Given the description of an element on the screen output the (x, y) to click on. 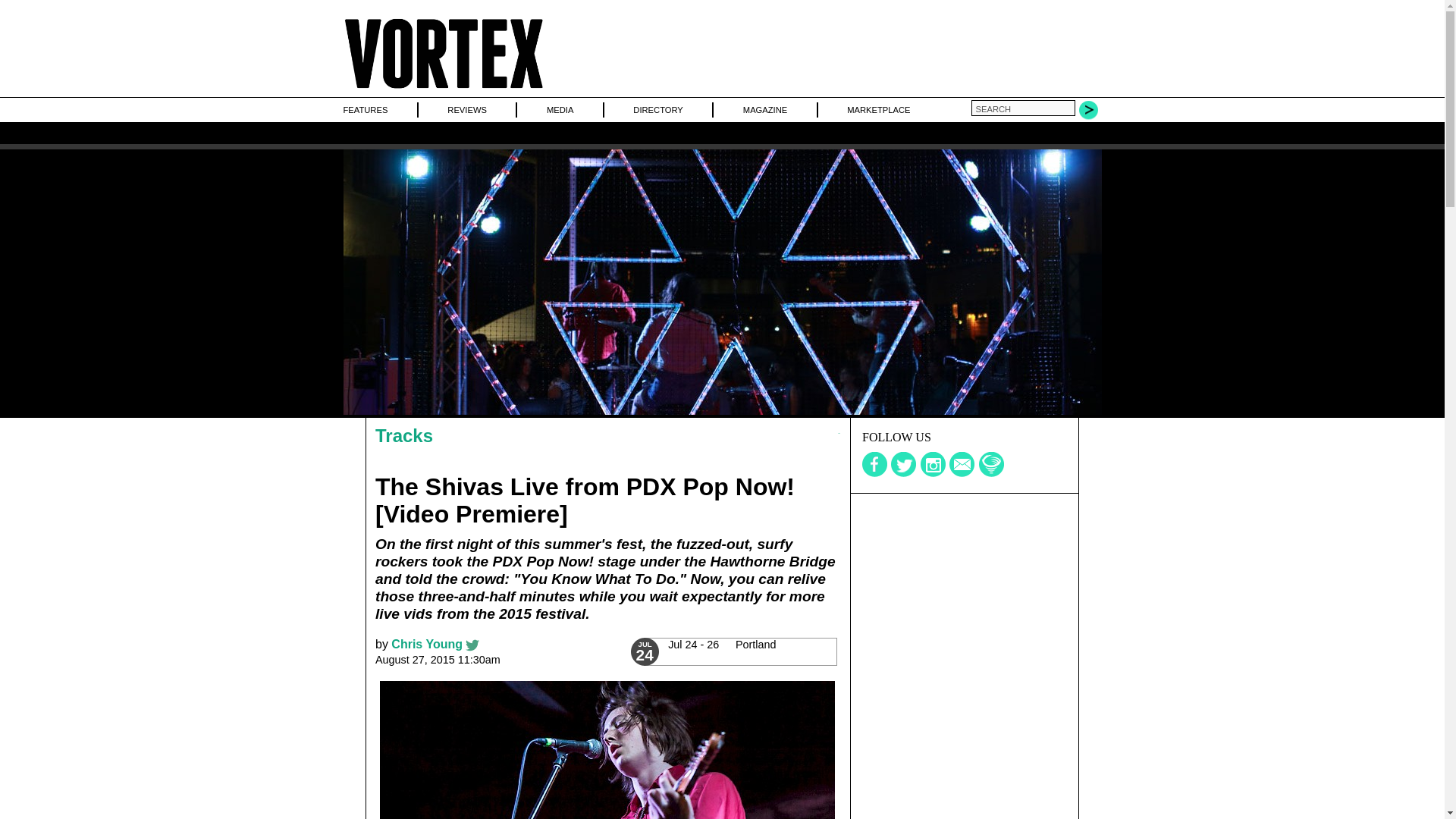
DIRECTORY (657, 109)
read more about Chris Young (427, 644)
search (1022, 107)
MEDIA (560, 109)
MARKETPLACE (878, 109)
FEATURES (364, 109)
REVIEWS (466, 109)
Chris Young (427, 644)
MAGAZINE (764, 109)
